Given the description of an element on the screen output the (x, y) to click on. 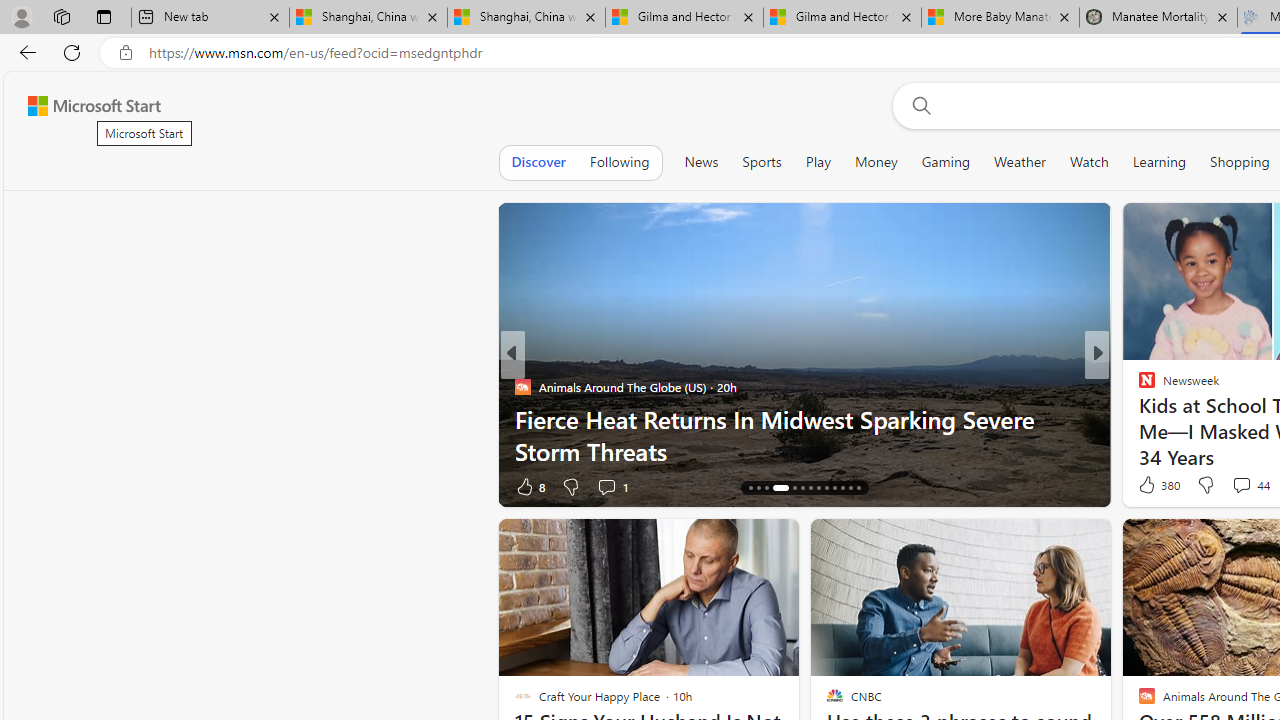
Fierce Heat Returns In Midwest Sparking Severe Storm Threats (804, 435)
84 Like (1149, 486)
AutomationID: tab-15 (757, 487)
View comments 56 Comment (1244, 486)
AutomationID: tab-25 (850, 487)
AutomationID: tab-22 (825, 487)
View comments 1 Comment (1228, 486)
Newsweek (1138, 418)
